Given the description of an element on the screen output the (x, y) to click on. 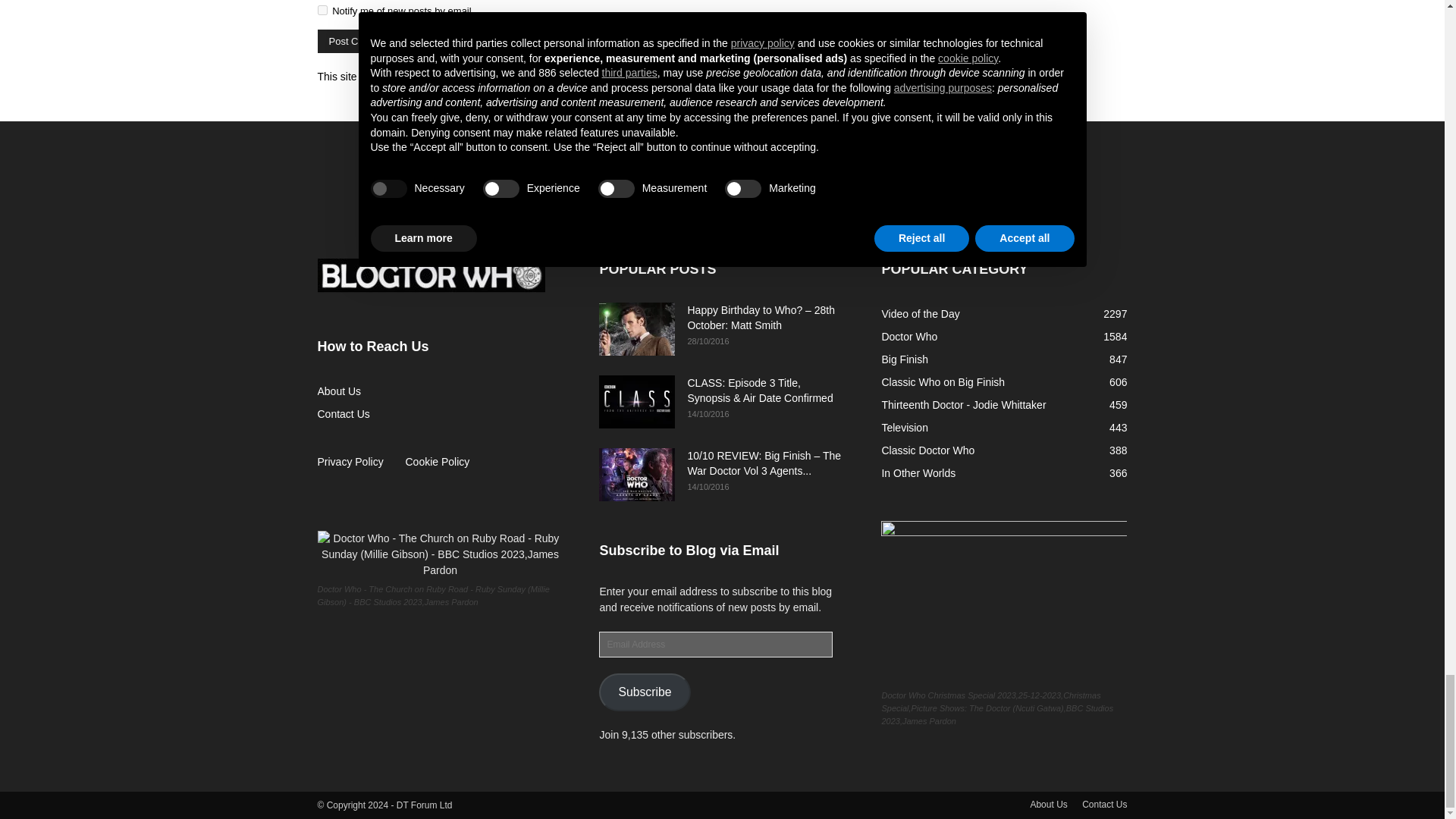
Post Comment (360, 41)
subscribe (321, 9)
